Given the description of an element on the screen output the (x, y) to click on. 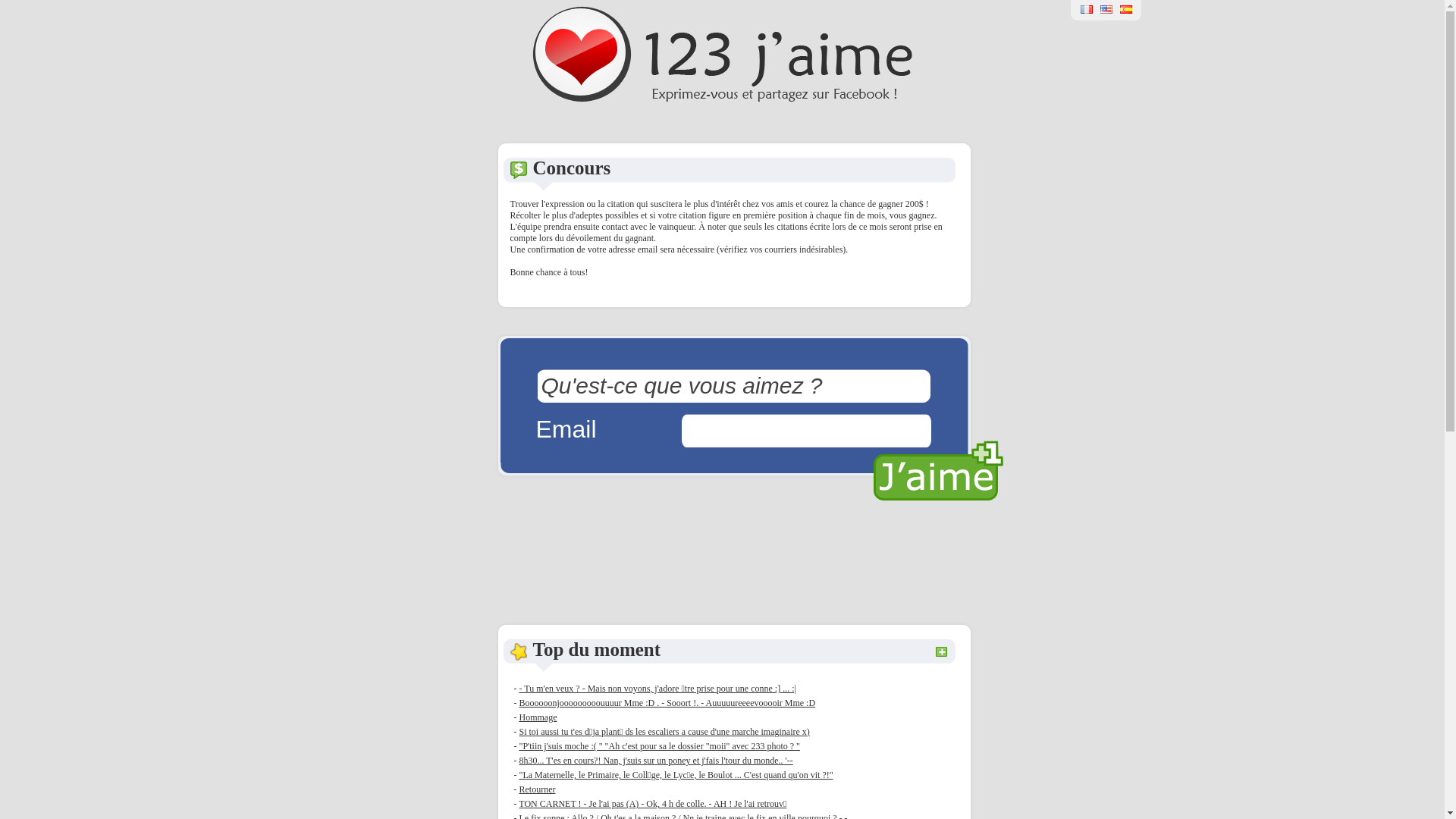
Hommage Element type: text (537, 717)
123 J'aime Element type: hover (722, 99)
123 Gusta Element type: hover (1125, 14)
Retourner Element type: text (536, 789)
Advertisement Element type: hover (732, 560)
123 Like.com Element type: hover (1106, 14)
